Given the description of an element on the screen output the (x, y) to click on. 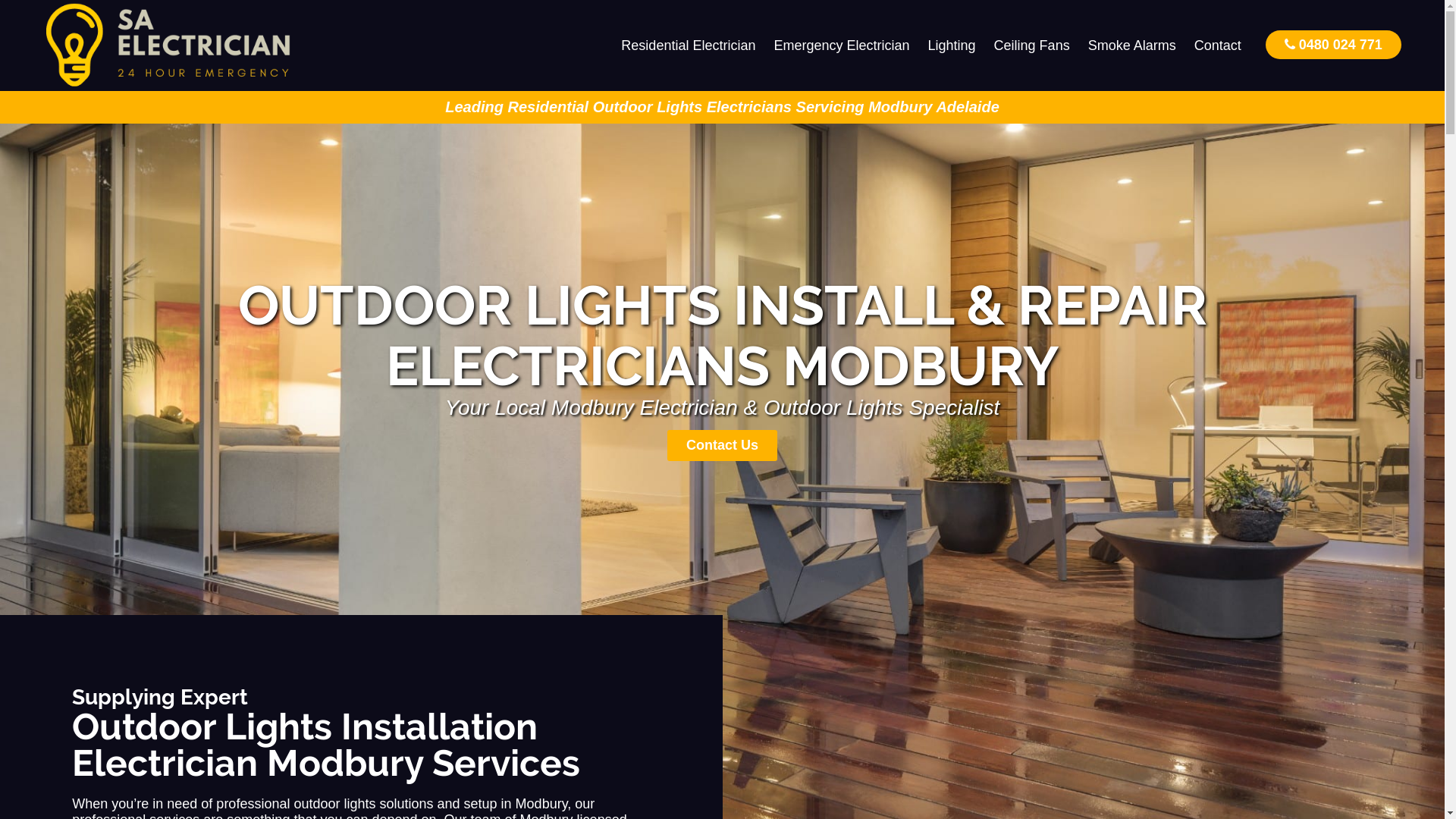
Contact Us Element type: text (722, 445)
Smoke Alarms Element type: text (1132, 45)
0480 024 771 Element type: text (1333, 44)
Residential Electrician Element type: text (687, 45)
Lighting Element type: text (952, 45)
Ceiling Fans Element type: text (1032, 45)
Contact Element type: text (1217, 45)
Emergency Electrician Element type: text (841, 45)
